Given the description of an element on the screen output the (x, y) to click on. 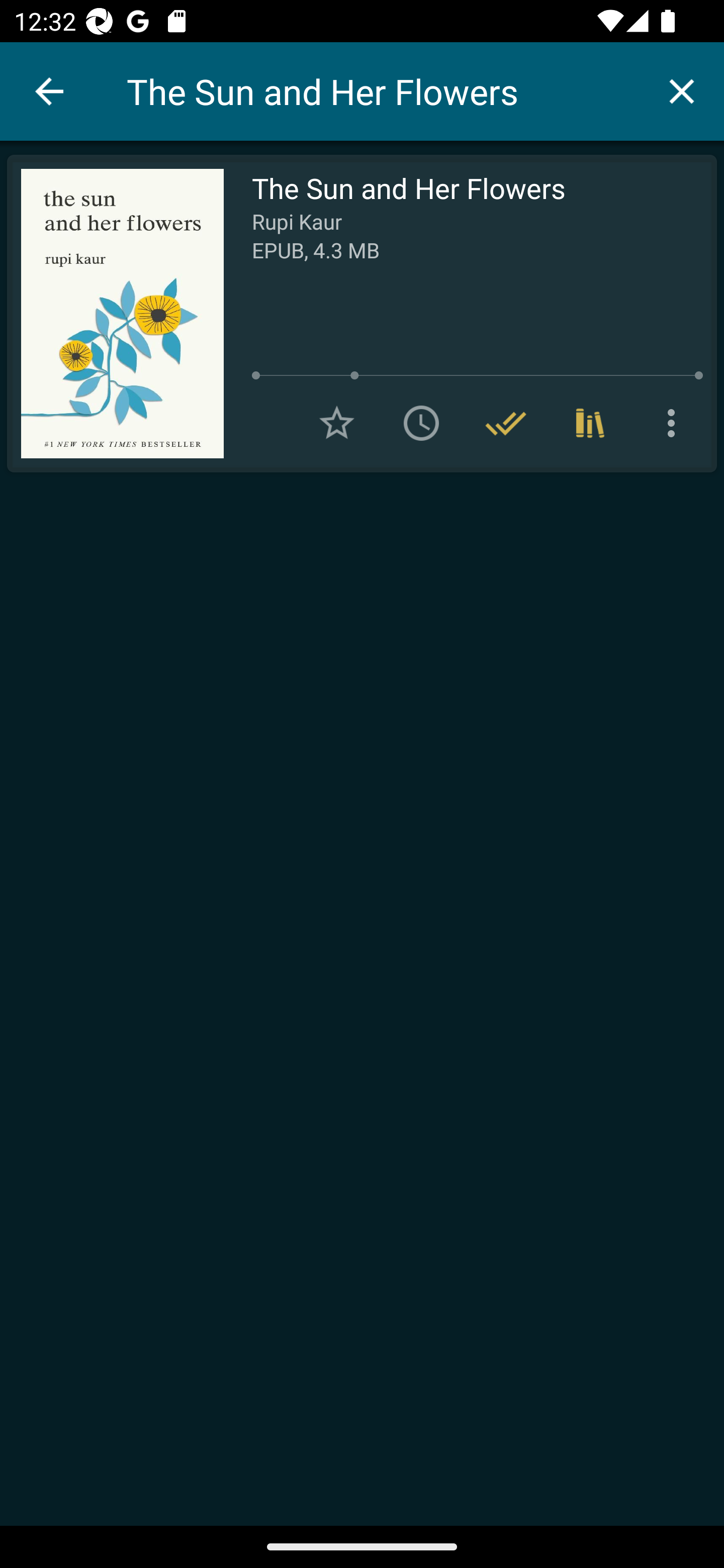
Back (49, 91)
The Sun and Her Flowers (382, 91)
Clear (681, 90)
Read The Sun and Her Flowers (115, 313)
Add to Favorites (336, 423)
Add to To read (421, 423)
Remove from Have read (505, 423)
Collections (1) (590, 423)
More options (674, 423)
